Given the description of an element on the screen output the (x, y) to click on. 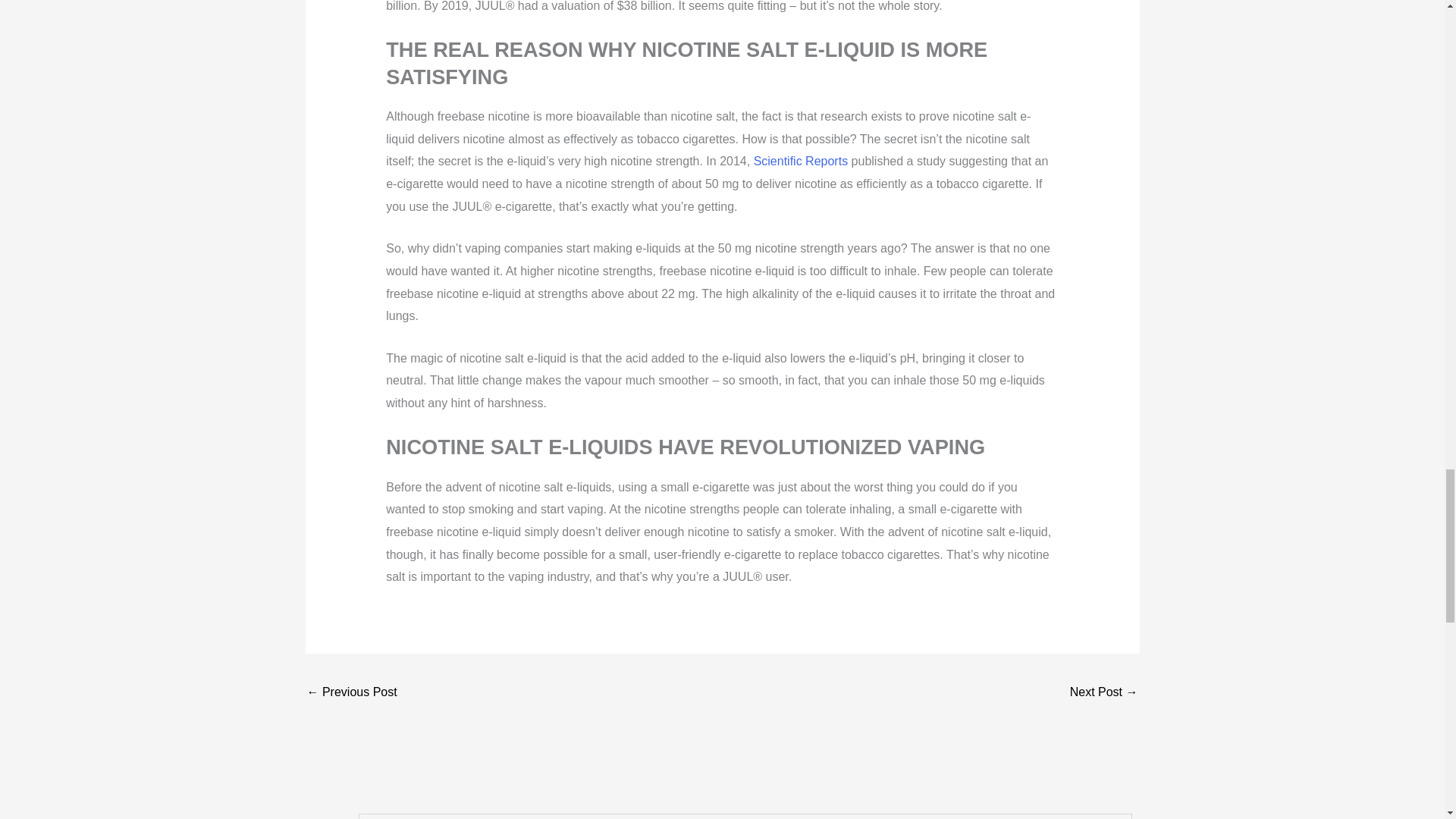
BEST JUUL ALTERNATIVES (1104, 693)
